Given the description of an element on the screen output the (x, y) to click on. 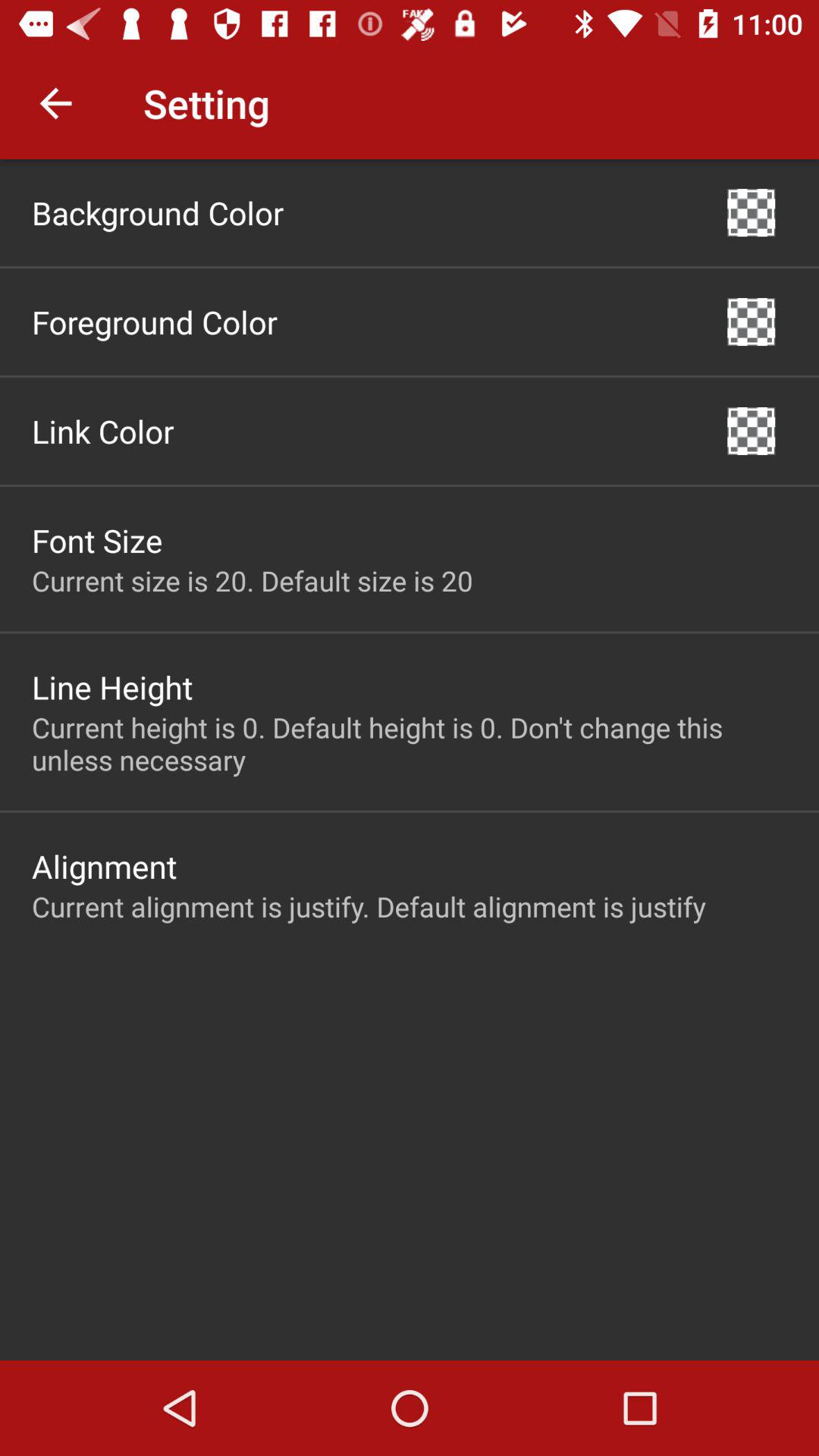
click the icon next to foreground color icon (751, 321)
